Given the description of an element on the screen output the (x, y) to click on. 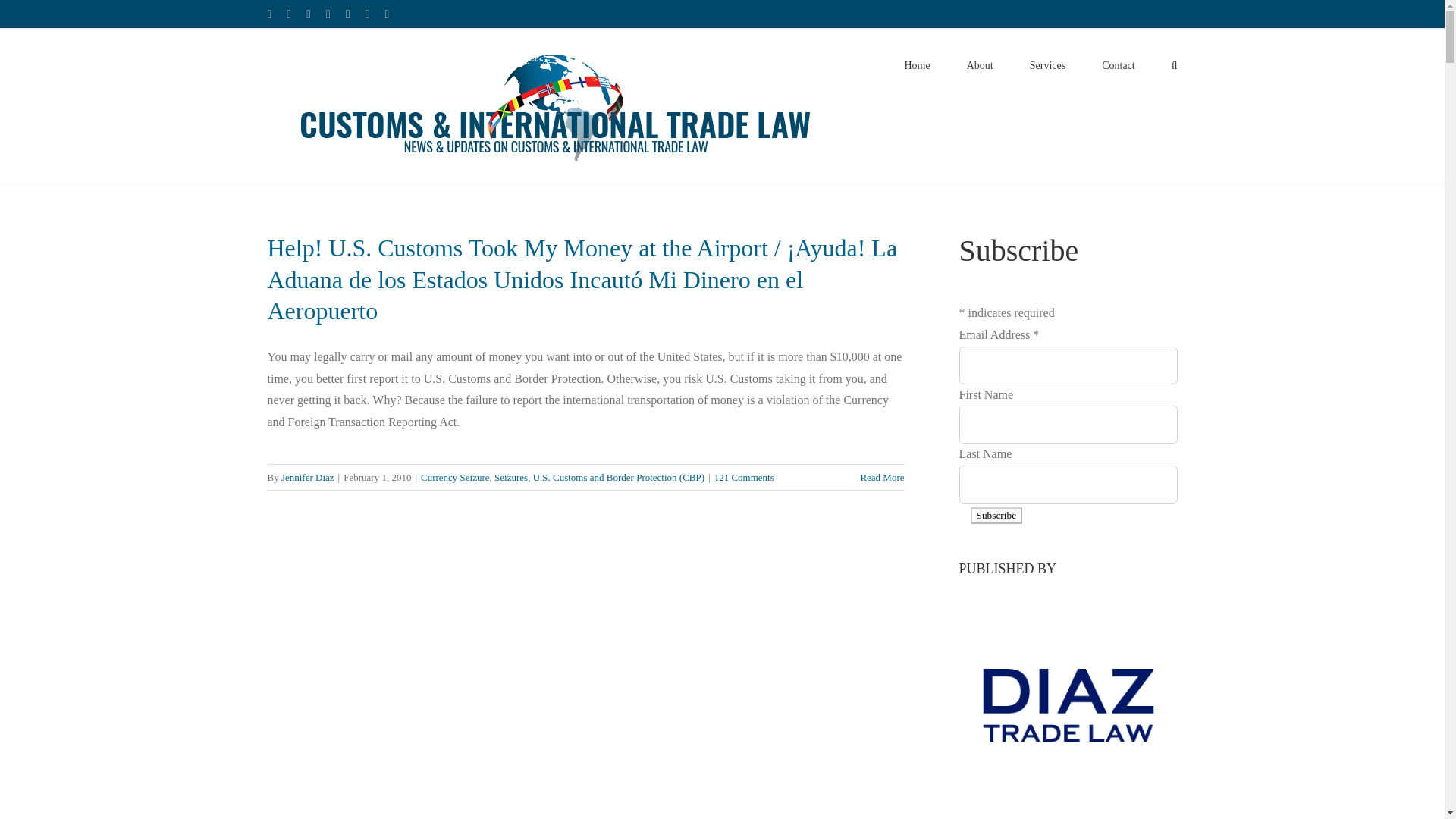
Jennifer Diaz (307, 477)
Subscribe (997, 515)
Read More (882, 477)
Subscribe (997, 515)
Currency Seizure (454, 477)
121 Comments (744, 477)
Posts by Jennifer Diaz (307, 477)
Seizures (511, 477)
